Given the description of an element on the screen output the (x, y) to click on. 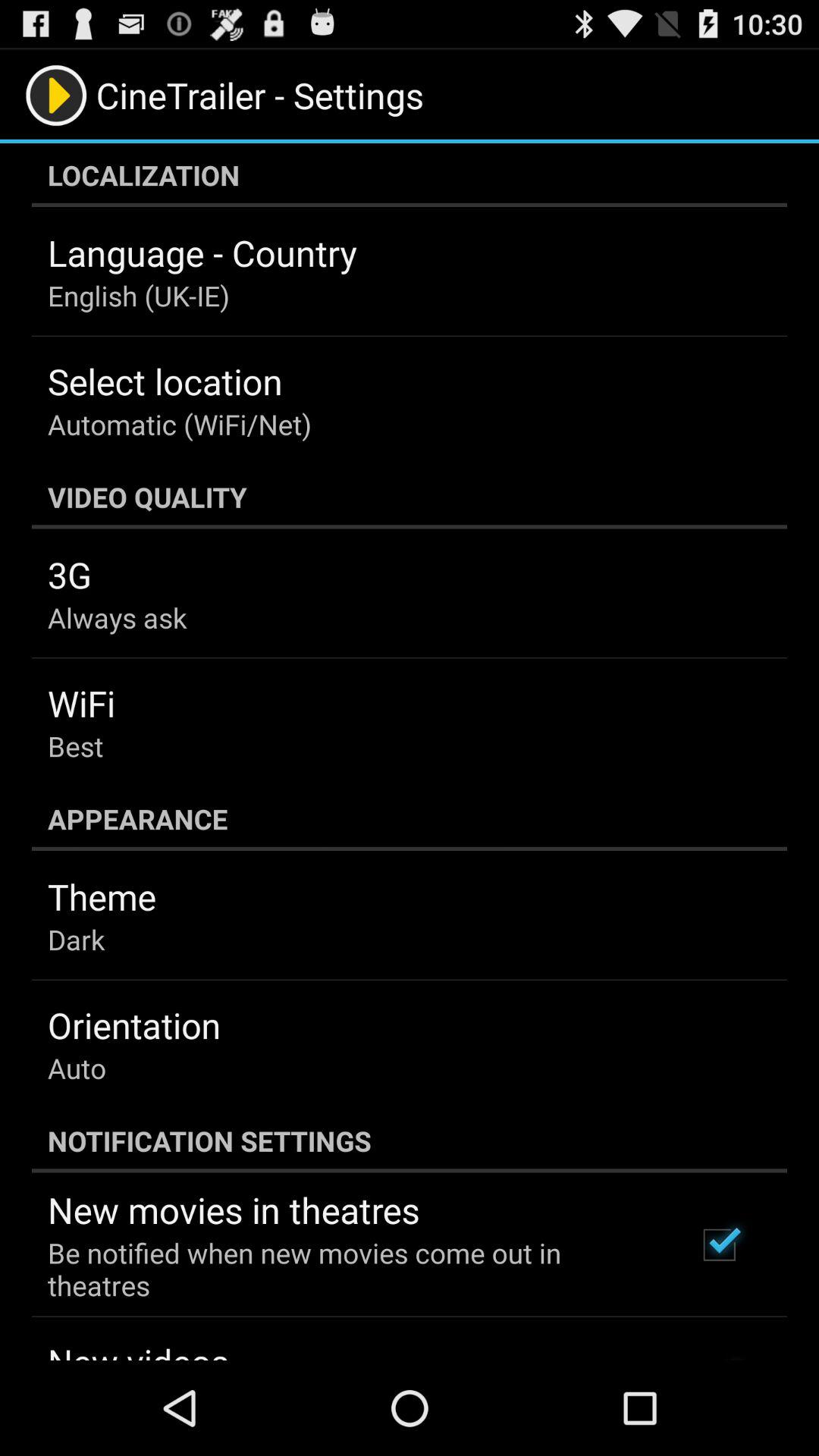
turn on the app above dark (101, 896)
